Given the description of an element on the screen output the (x, y) to click on. 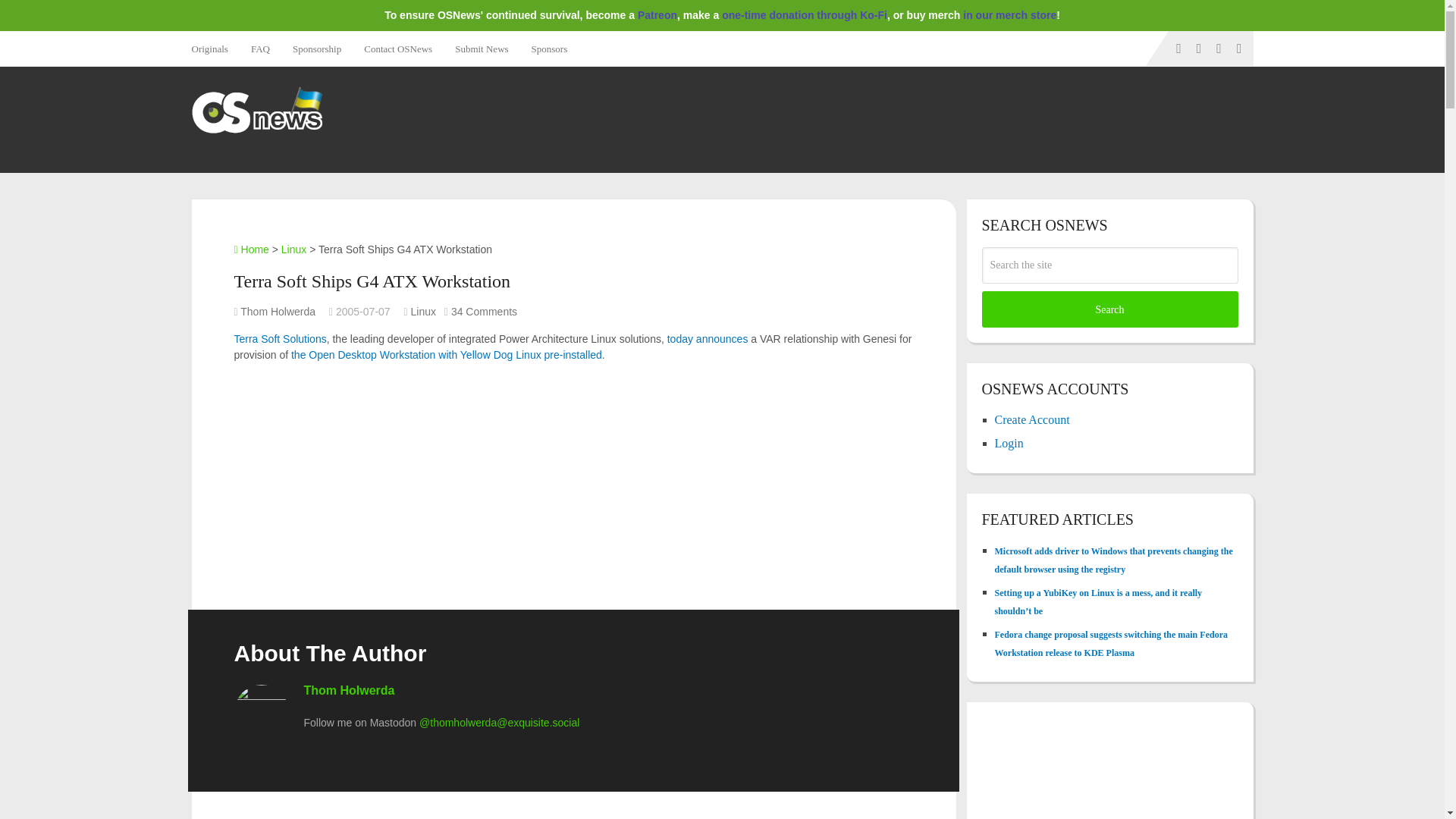
FAQ (260, 48)
Search (1109, 309)
View all posts in Linux (422, 311)
Thom Holwerda (277, 311)
Linux (293, 249)
in our merch store (1009, 15)
Linux (422, 311)
34 Comments (483, 311)
Sponsorship (316, 48)
Terra Soft Solutions (279, 338)
Posts by Thom Holwerda (277, 311)
today announces (707, 338)
Originals (214, 48)
Thom Holwerda (348, 689)
